Given the description of an element on the screen output the (x, y) to click on. 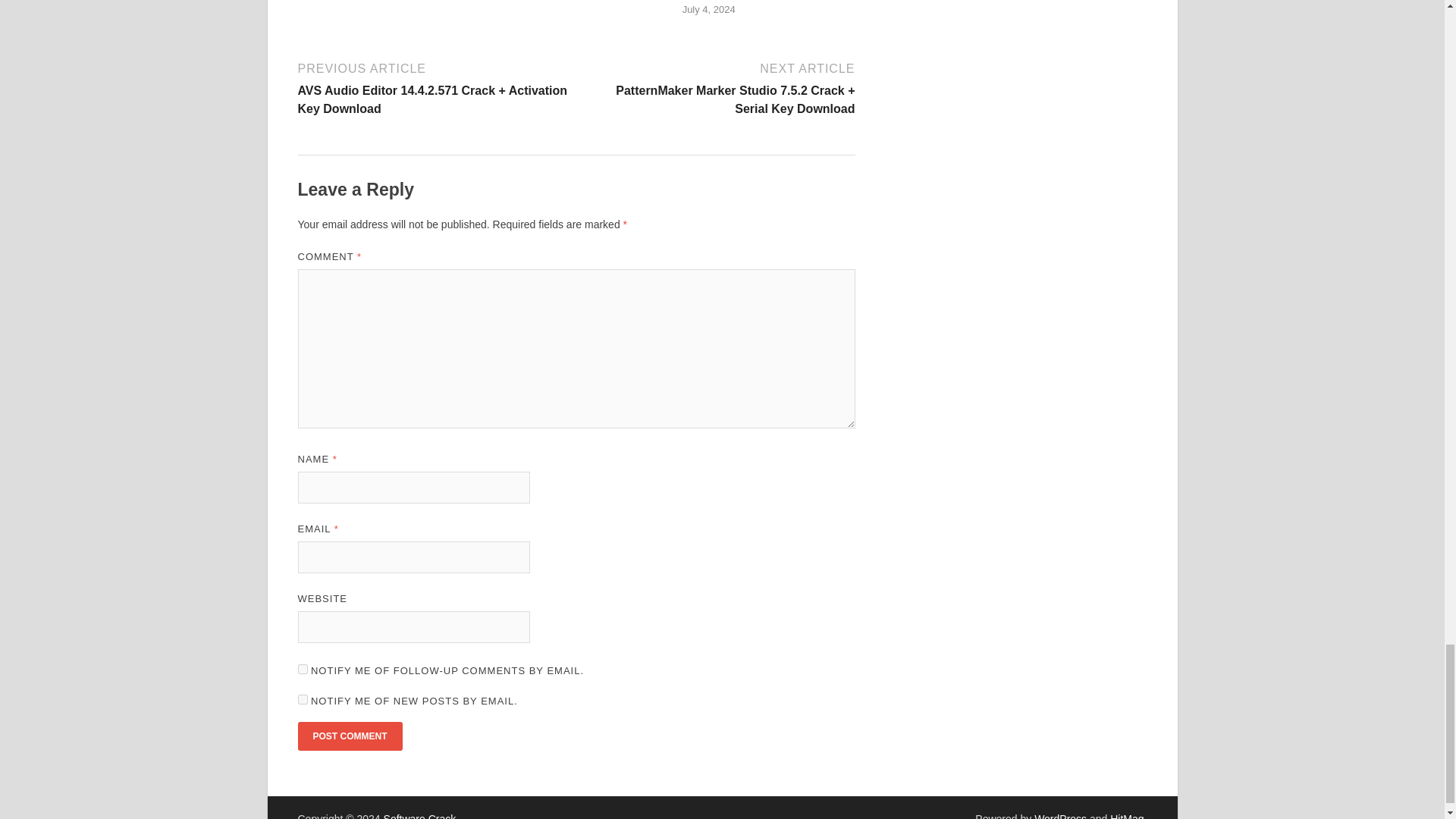
Post Comment (349, 736)
subscribe (302, 699)
subscribe (302, 669)
